Given the description of an element on the screen output the (x, y) to click on. 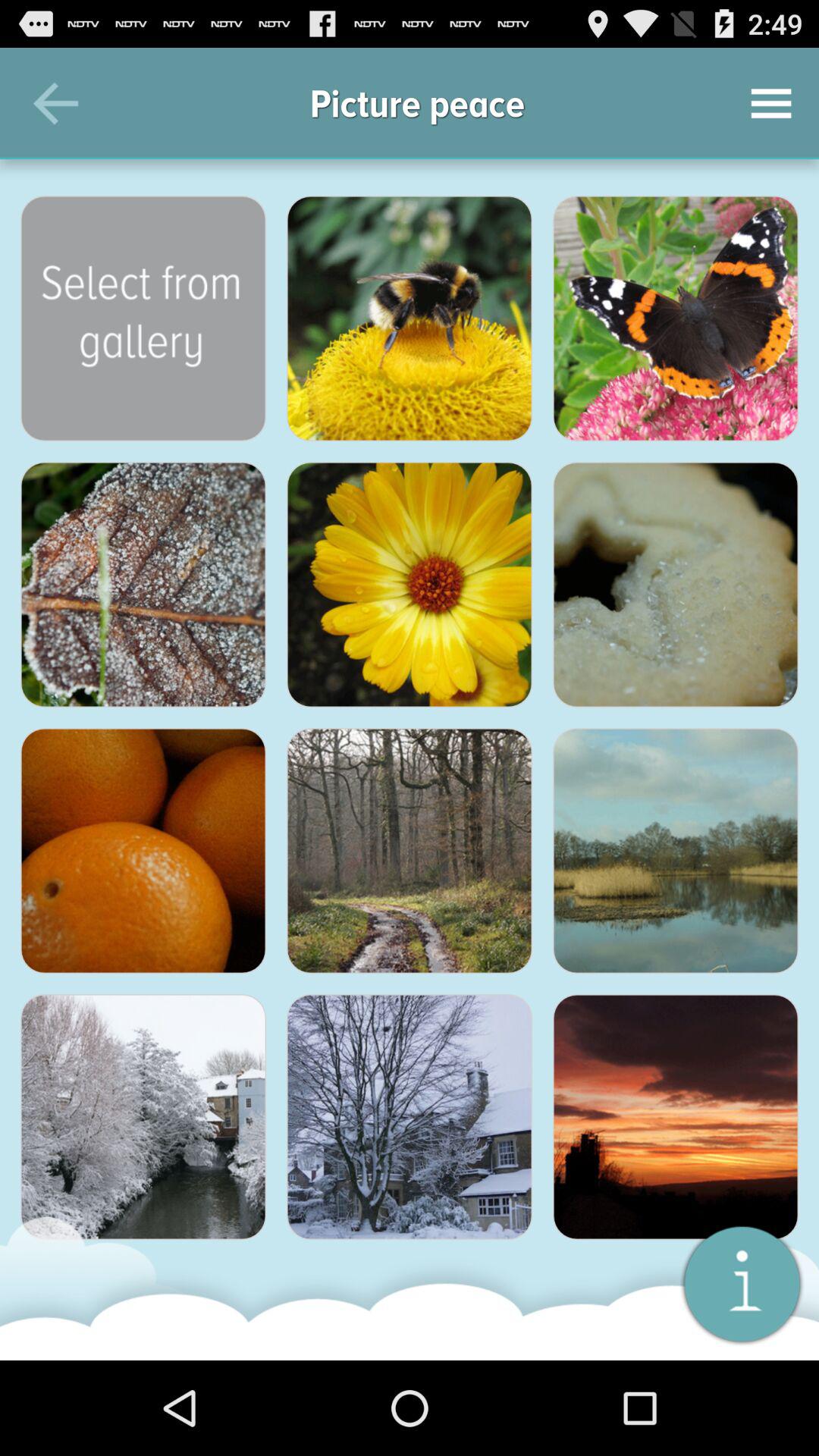
go to cmojios (742, 1283)
